Given the description of an element on the screen output the (x, y) to click on. 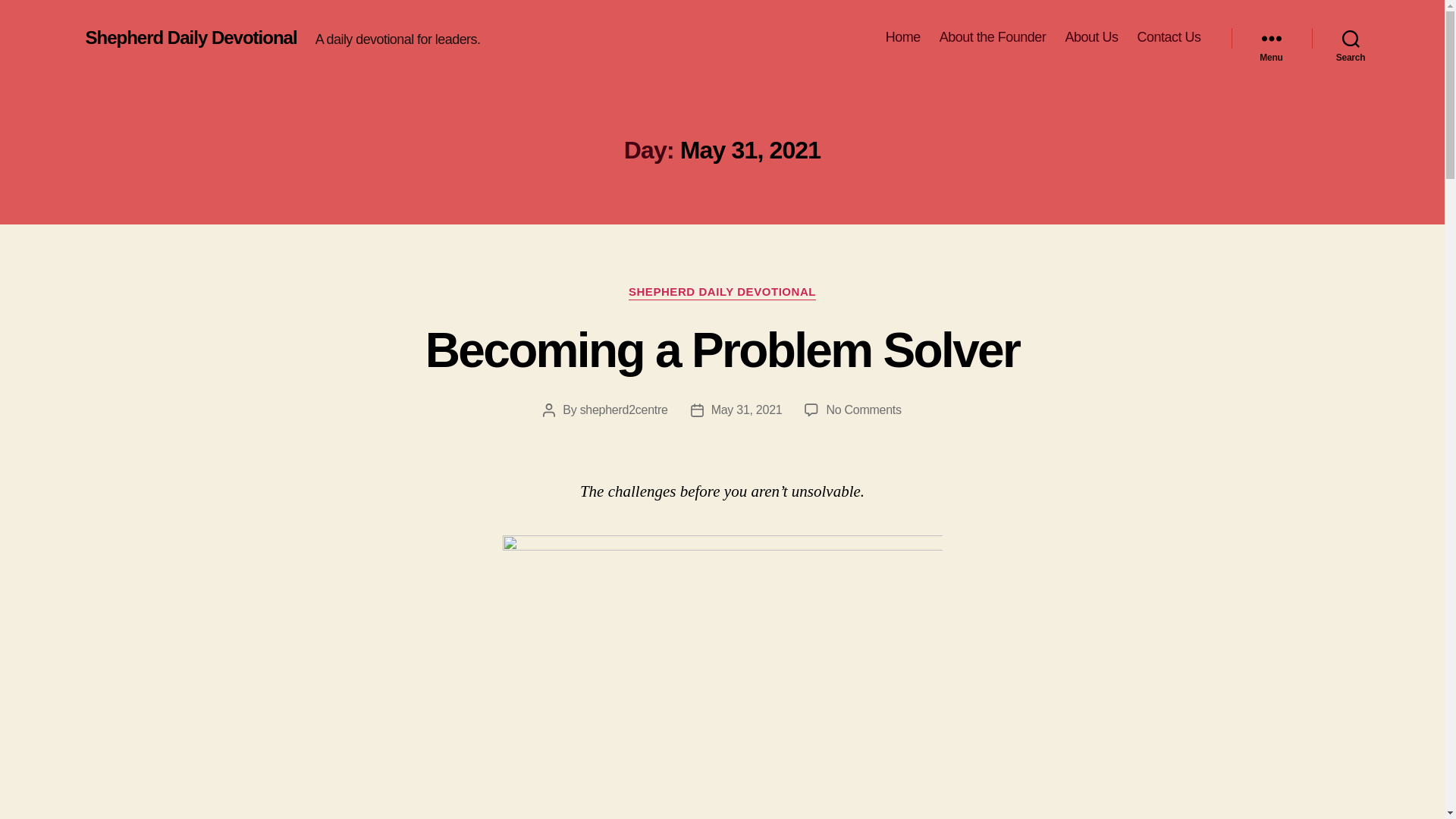
Shepherd Daily Devotional (190, 37)
Menu (1271, 37)
Home (902, 37)
May 31, 2021 (747, 409)
Search (1350, 37)
About Us (1091, 37)
Contact Us (1168, 37)
shepherd2centre (623, 409)
SHEPHERD DAILY DEVOTIONAL (721, 292)
About the Founder (992, 37)
